Given the description of an element on the screen output the (x, y) to click on. 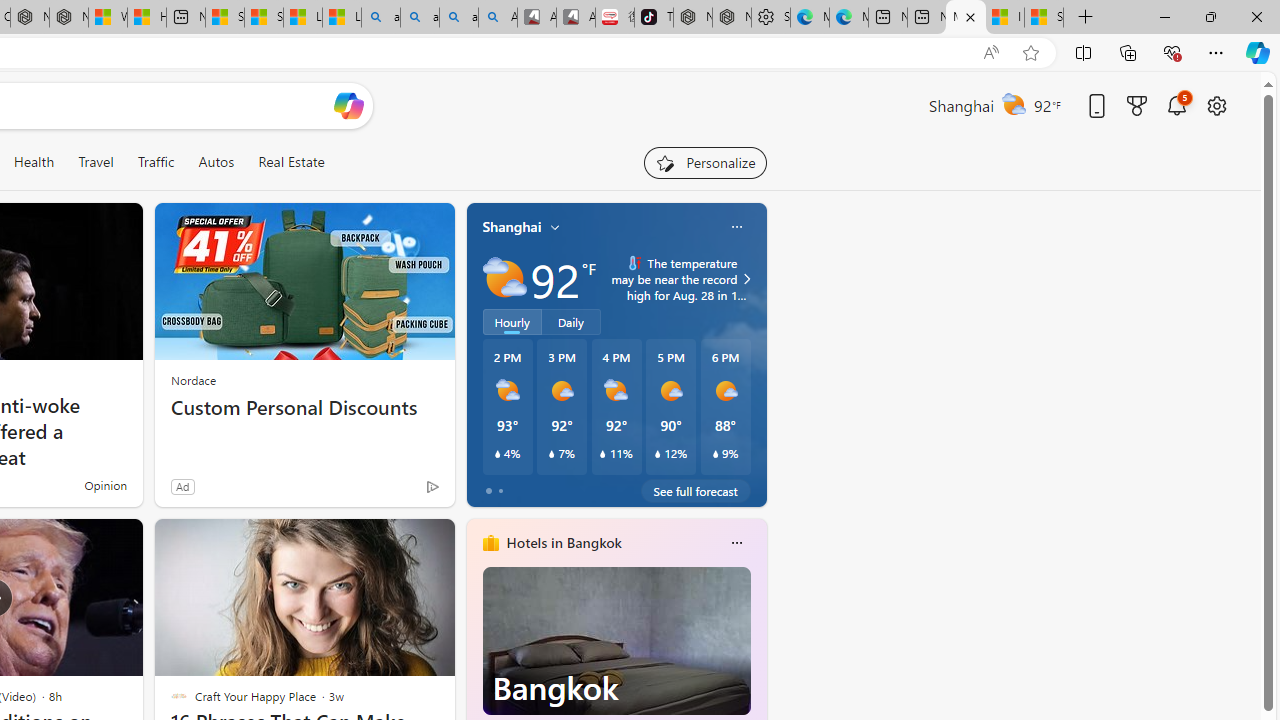
amazon - Search Images (458, 17)
Real Estate (291, 161)
previous (476, 670)
next (756, 670)
Partly sunny (504, 278)
All Cubot phones (575, 17)
Traffic (155, 162)
